Given the description of an element on the screen output the (x, y) to click on. 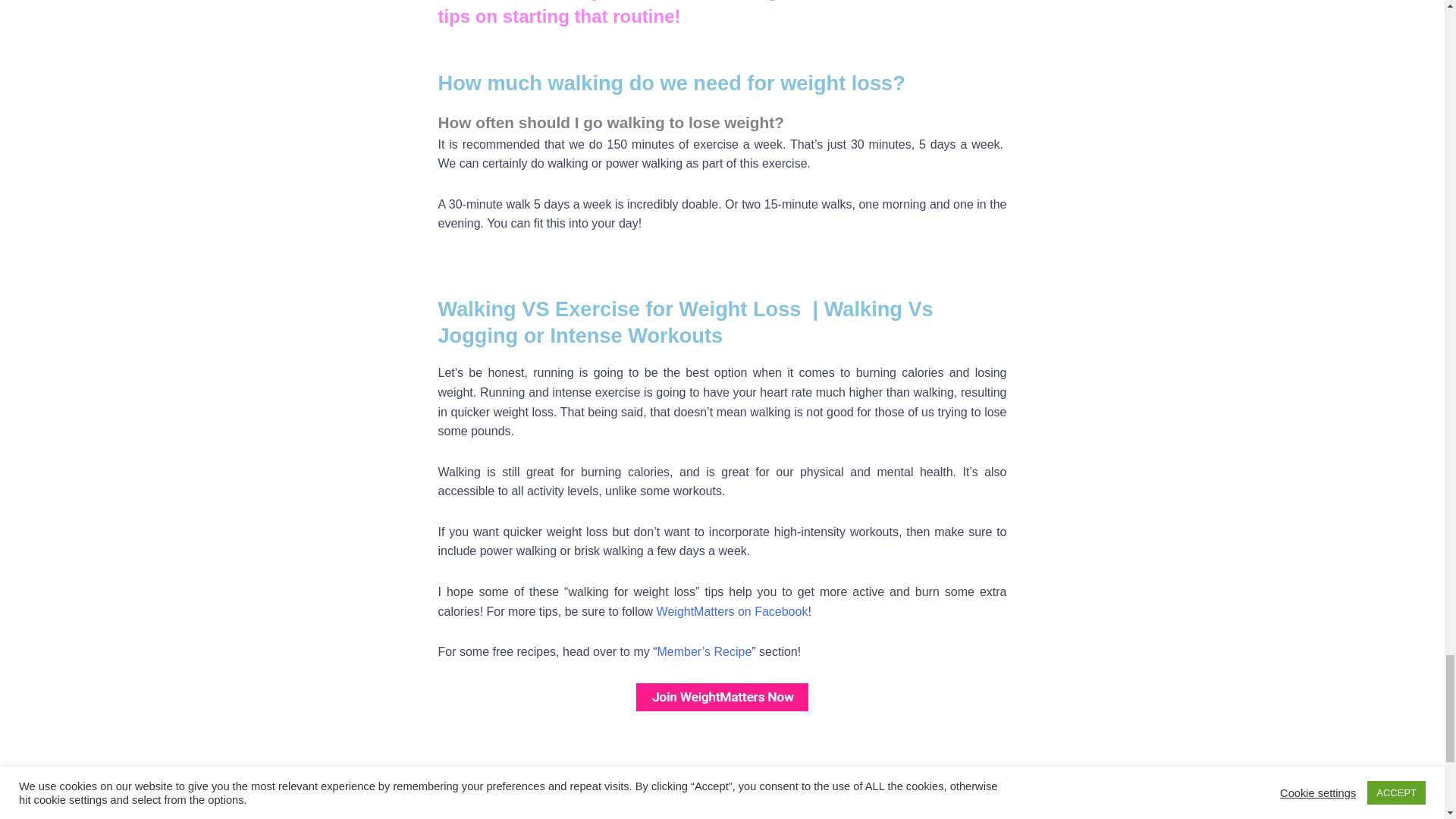
WeightMatters on Facebook (732, 611)
Click here for tips on starting that routine!  (864, 796)
